Given the description of an element on the screen output the (x, y) to click on. 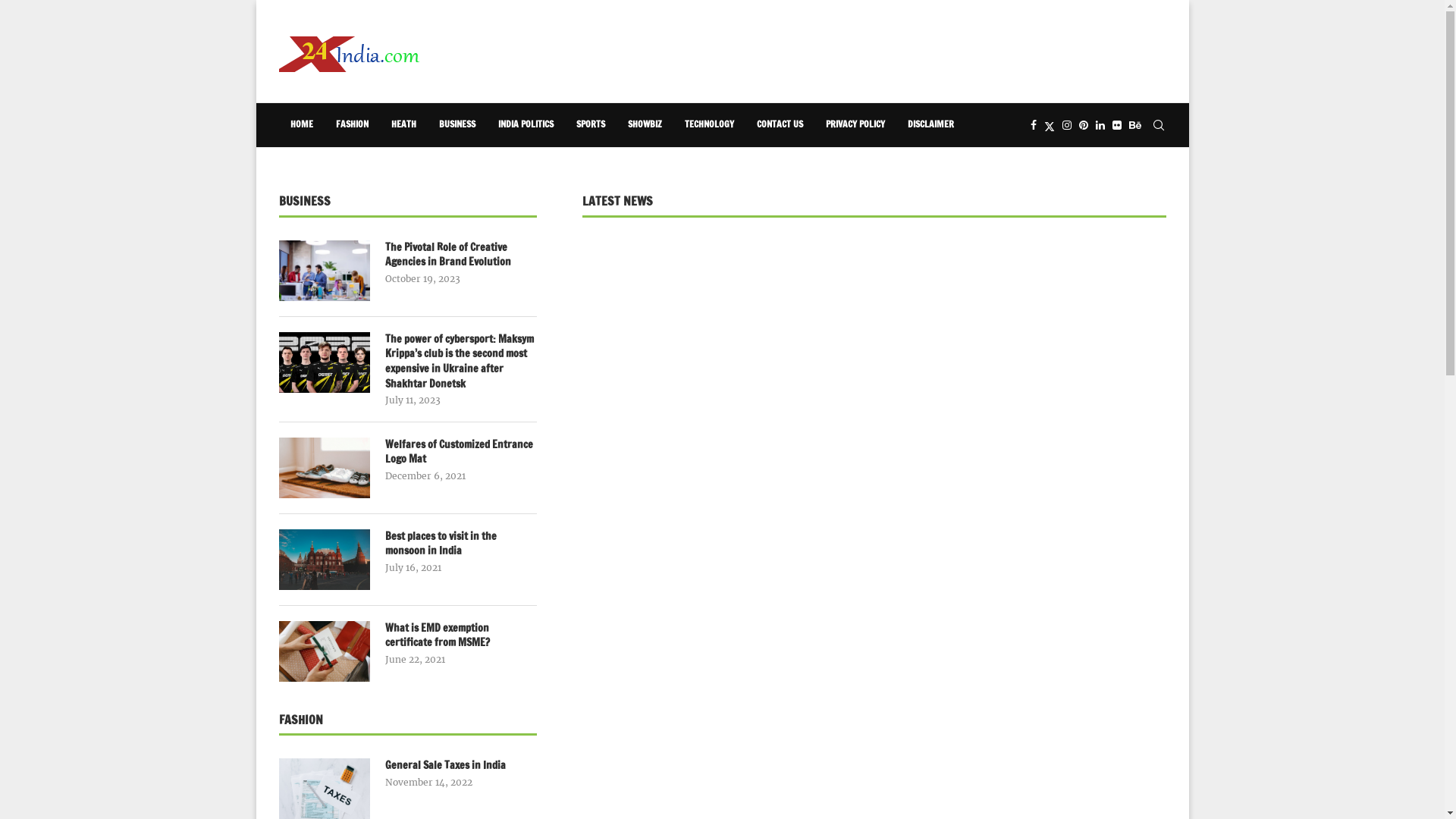
CONTACT US Element type: text (778, 124)
Welfares of Customized Entrance Logo Mat Element type: text (460, 452)
TECHNOLOGY Element type: text (709, 124)
SHOWBIZ Element type: text (643, 124)
The Pivotal Role of Creative Agencies in Brand Evolution Element type: text (460, 254)
FASHION Element type: text (351, 124)
Best places to visit in the monsoon in India Element type: text (460, 543)
HOME Element type: text (301, 124)
SPORTS Element type: text (589, 124)
INDIA POLITICS Element type: text (525, 124)
BUSINESS Element type: text (456, 124)
DISCLAIMER Element type: text (930, 124)
PRIVACY POLICY Element type: text (855, 124)
The Pivotal Role of Creative Agencies in Brand Evolution Element type: hover (324, 270)
HEATH Element type: text (402, 124)
What is EMD exemption certificate from MSME? Element type: hover (324, 651)
Best places to visit in the monsoon in India Element type: hover (324, 559)
Welfares of Customized Entrance Logo Mat Element type: hover (324, 467)
General Sale Taxes in India Element type: text (460, 765)
What is EMD exemption certificate from MSME? Element type: text (460, 635)
